Given the description of an element on the screen output the (x, y) to click on. 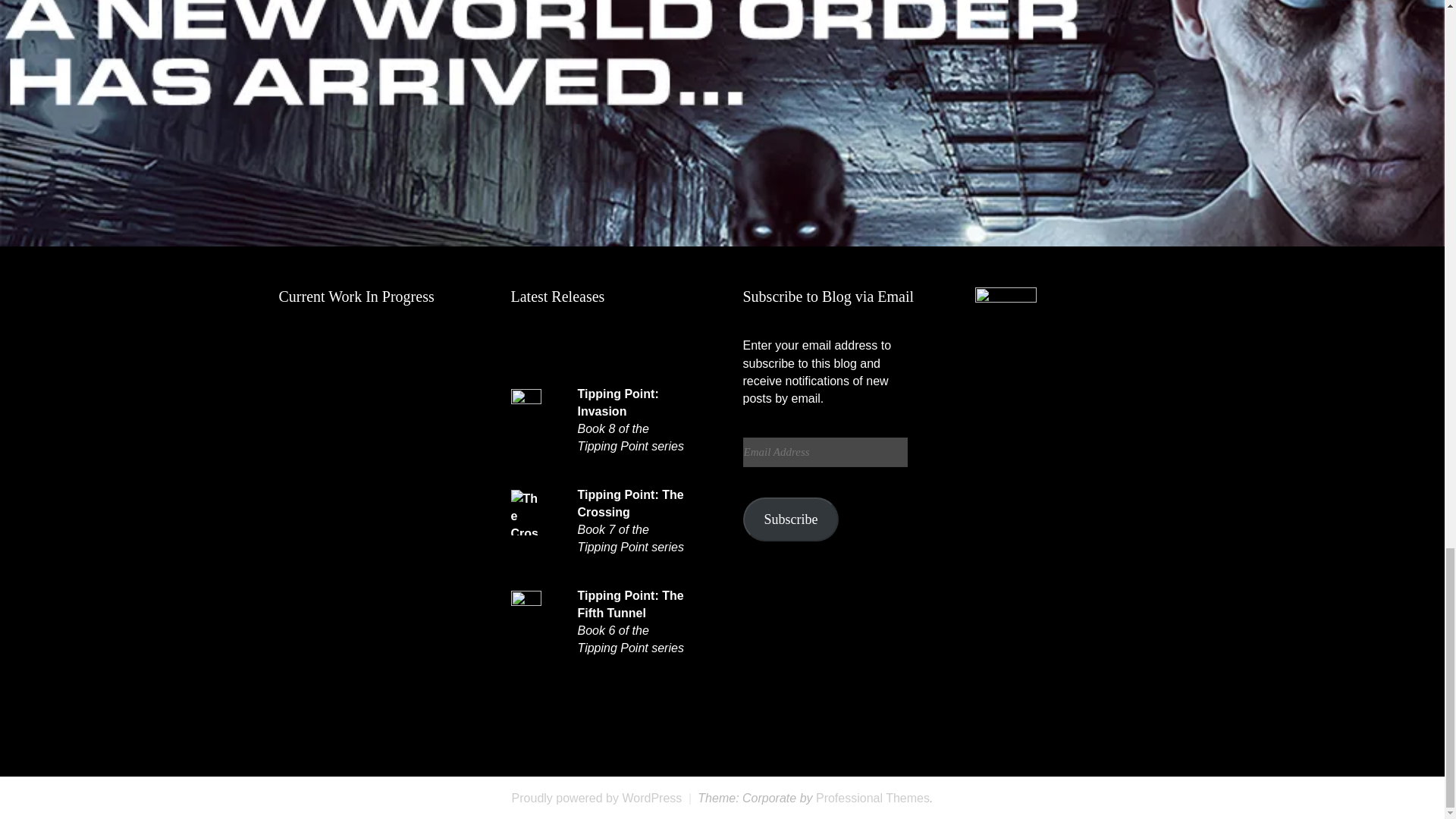
Subscribe (791, 519)
Proudly powered by WordPress (597, 797)
Professional Themes (872, 797)
